Given the description of an element on the screen output the (x, y) to click on. 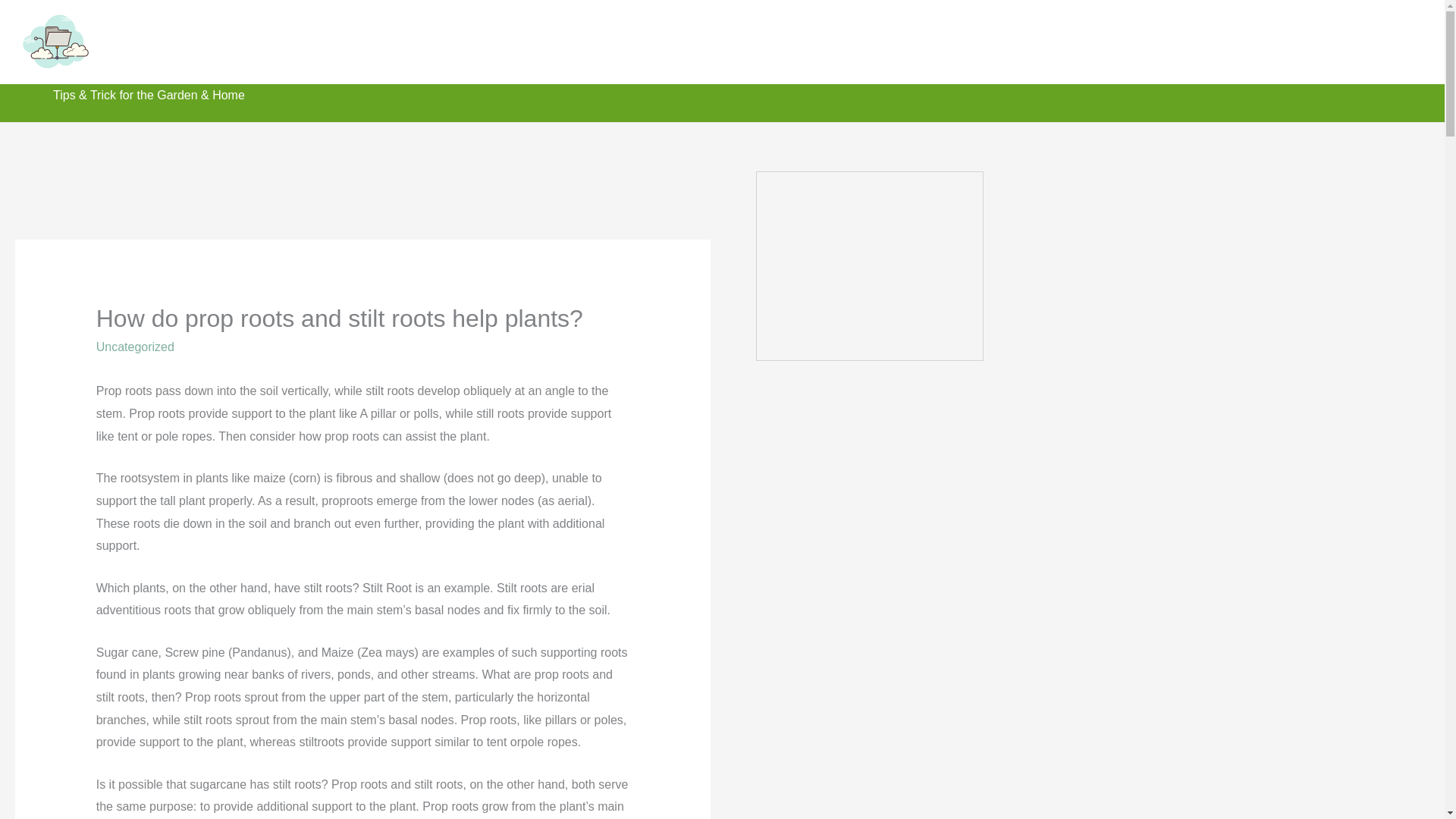
Gardening Techniques (928, 41)
About Us (1207, 41)
Privacy Policy (1379, 41)
TipsFolder.com (198, 41)
Contact Us (1286, 41)
Fruits (1143, 41)
